Given the description of an element on the screen output the (x, y) to click on. 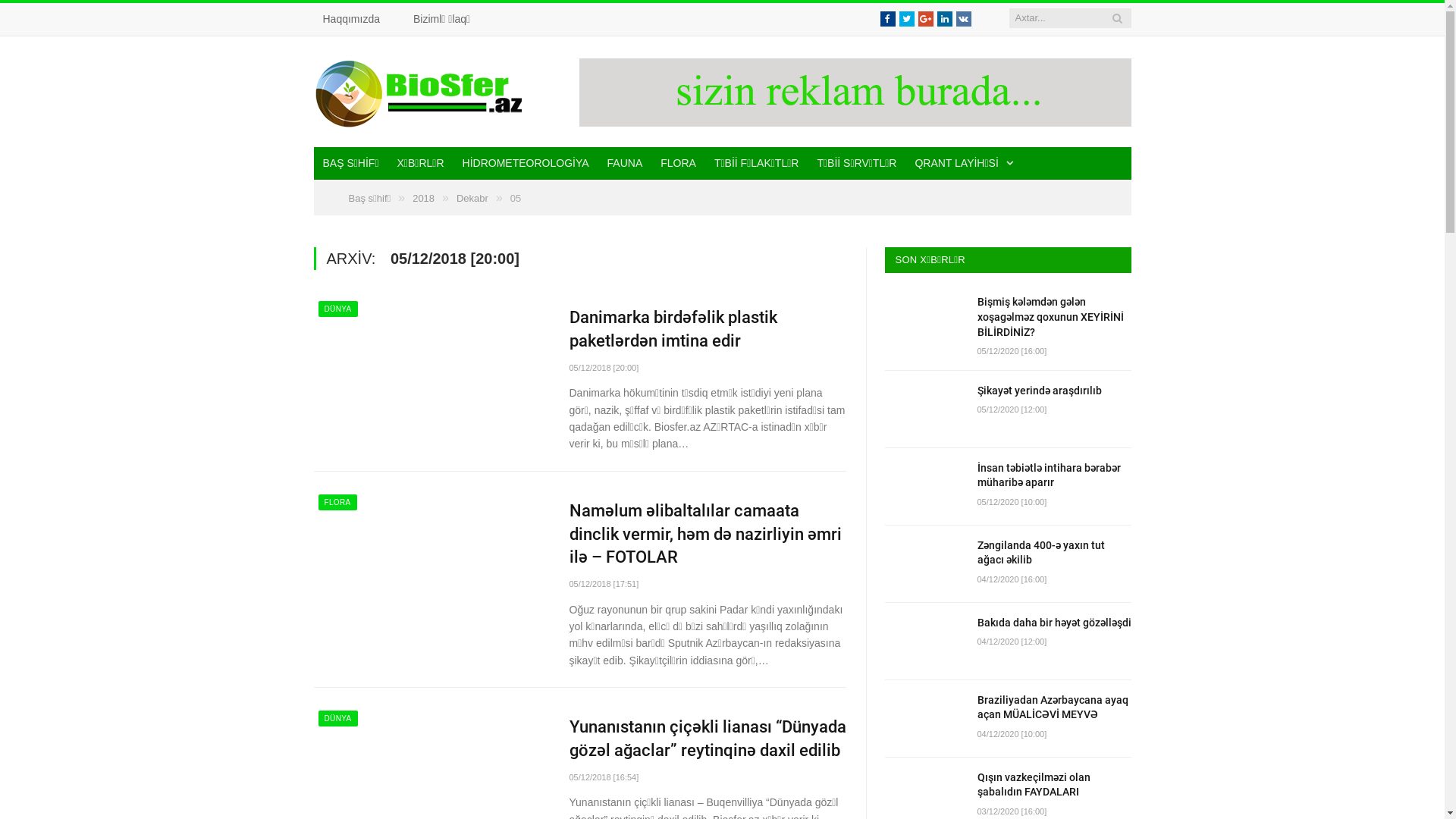
VK Element type: text (962, 18)
FLORA Element type: text (678, 164)
Facebook Element type: text (886, 18)
Twitter Element type: text (906, 18)
FAUNA Element type: text (625, 164)
Dekabr Element type: text (472, 197)
HIDROMETEOROLOGIYA Element type: text (525, 164)
LinkedIn Element type: text (944, 18)
Google+ Element type: text (924, 18)
Biosfer.az Element type: hover (419, 90)
FLORA Element type: text (337, 502)
2018 Element type: text (423, 197)
